Given the description of an element on the screen output the (x, y) to click on. 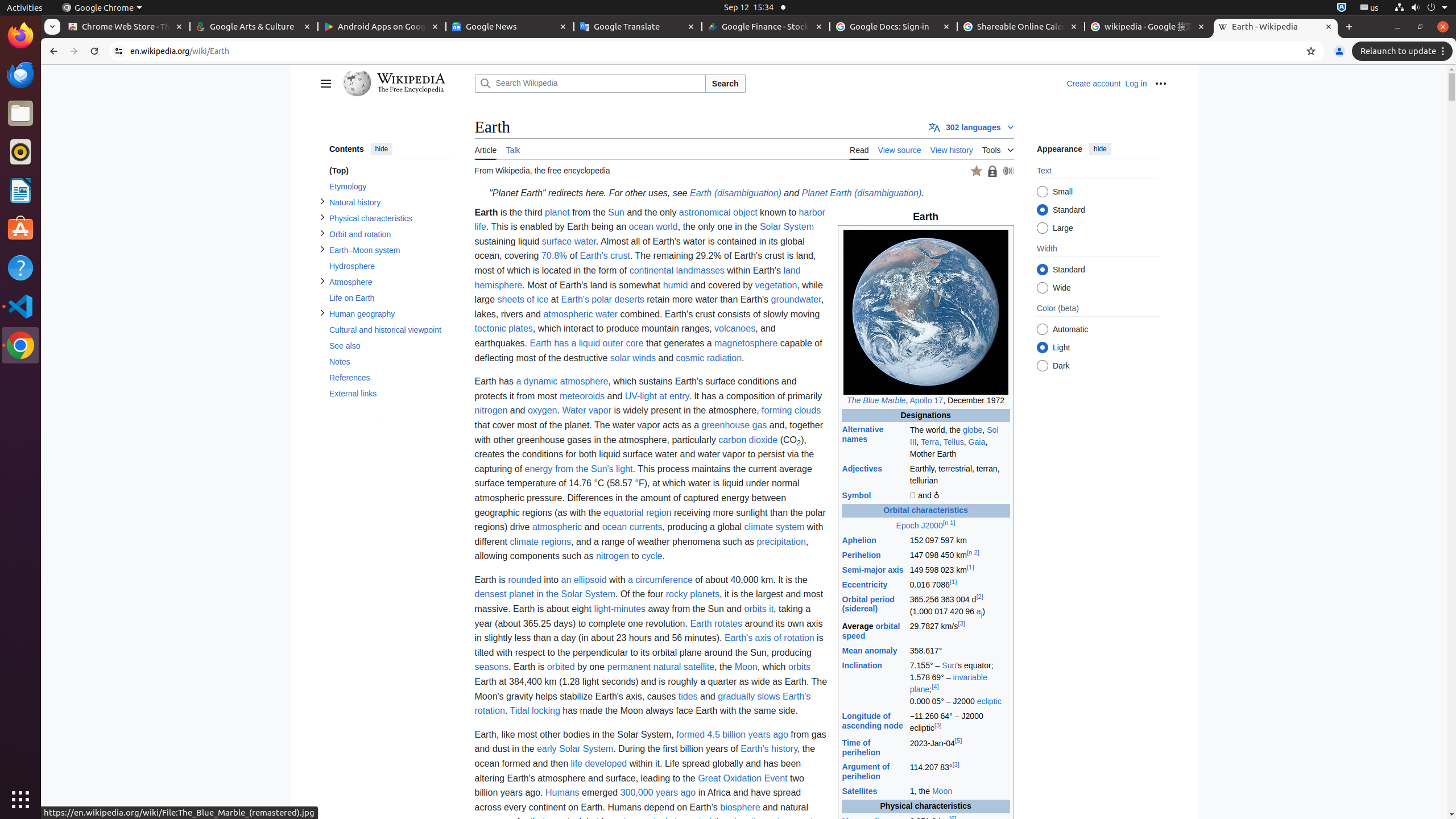
climate regions Element type: link (540, 541)
atmospheric water Element type: link (580, 313)
Listen to this article Element type: link (1008, 170)
Google Chrome Element type: push-button (20, 344)
300,000 years ago Element type: link (657, 792)
